Given the description of an element on the screen output the (x, y) to click on. 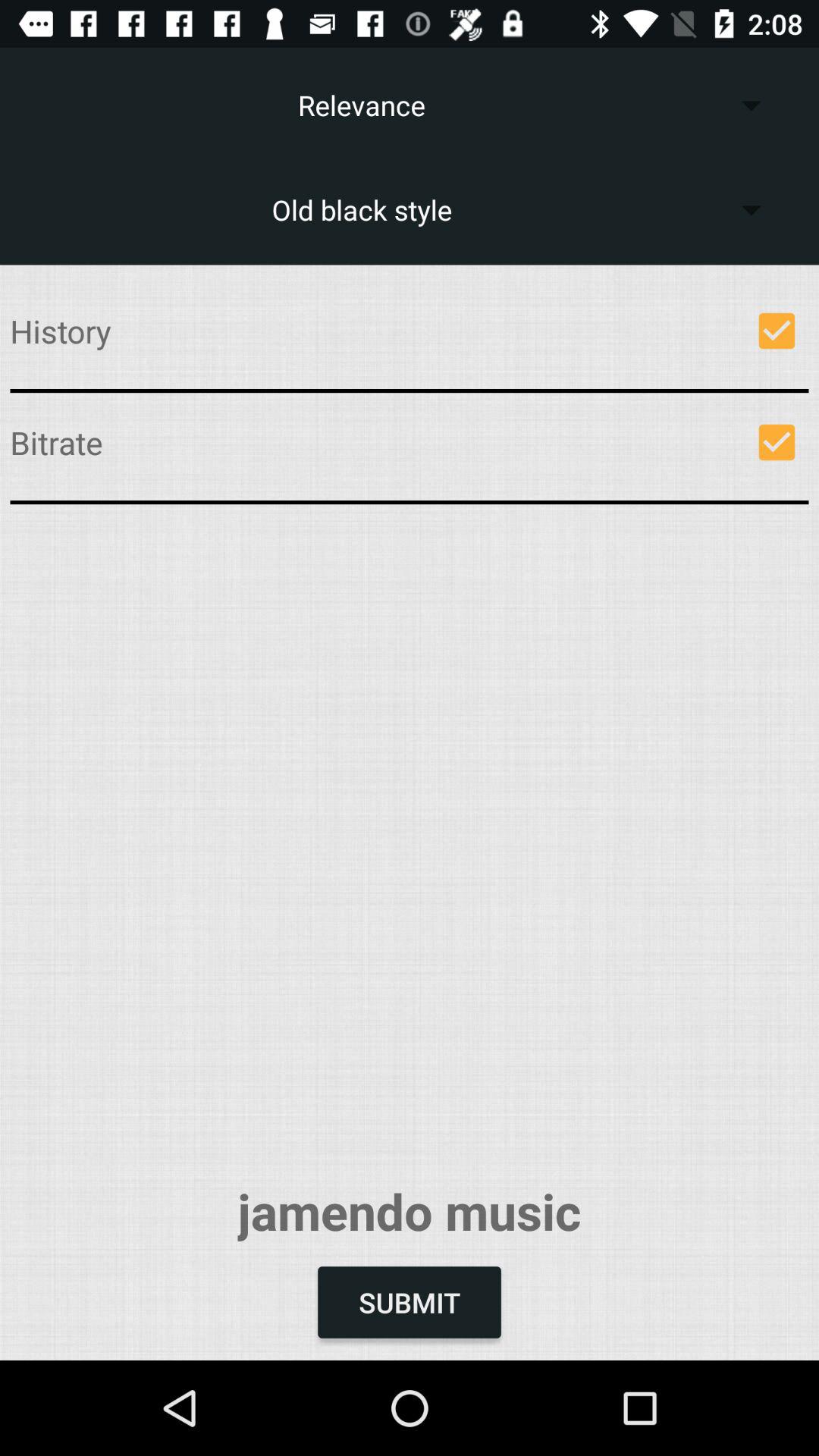
launch icon to the right of the bitrate item (776, 442)
